Given the description of an element on the screen output the (x, y) to click on. 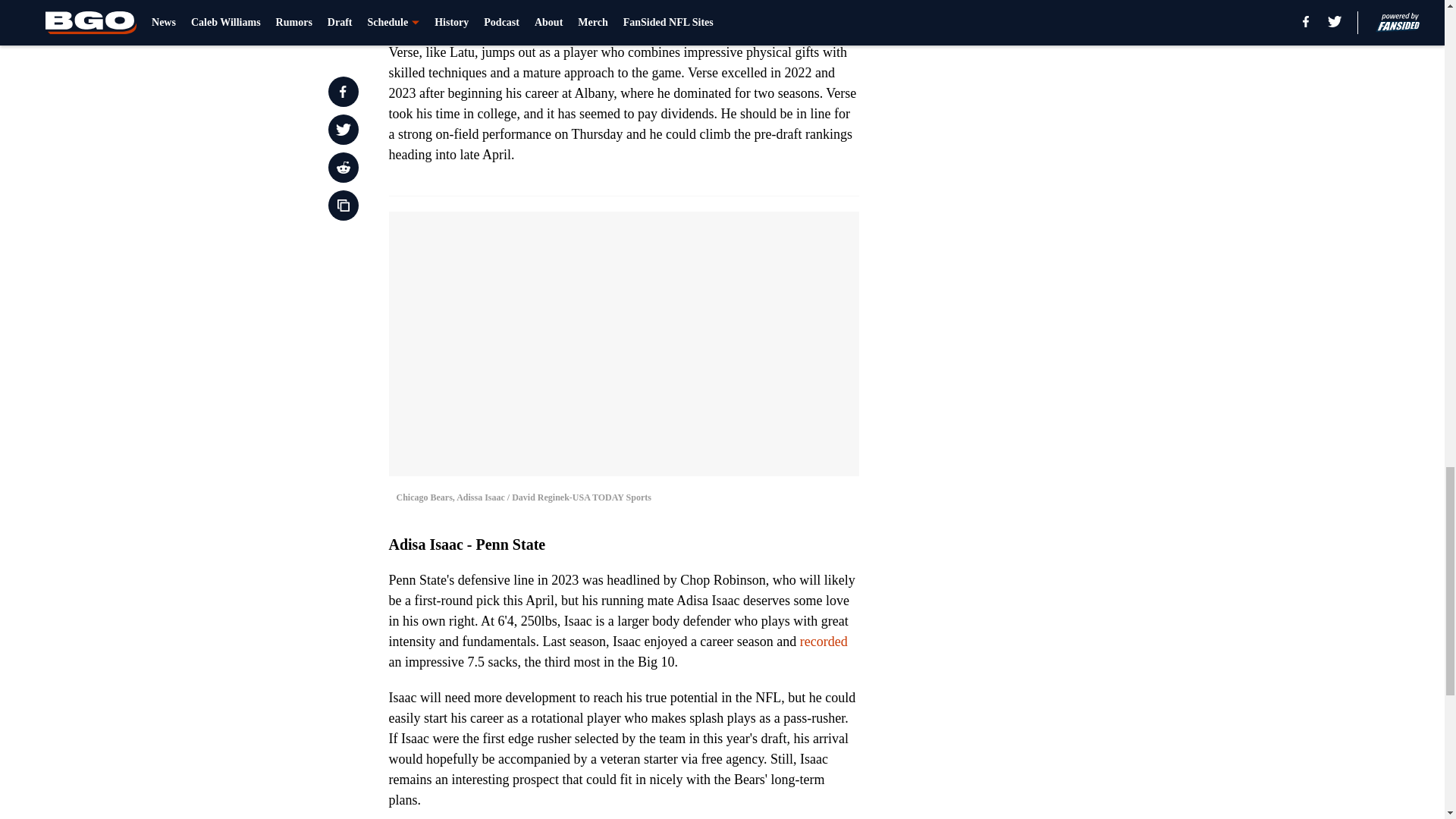
recorded (823, 641)
